Given the description of an element on the screen output the (x, y) to click on. 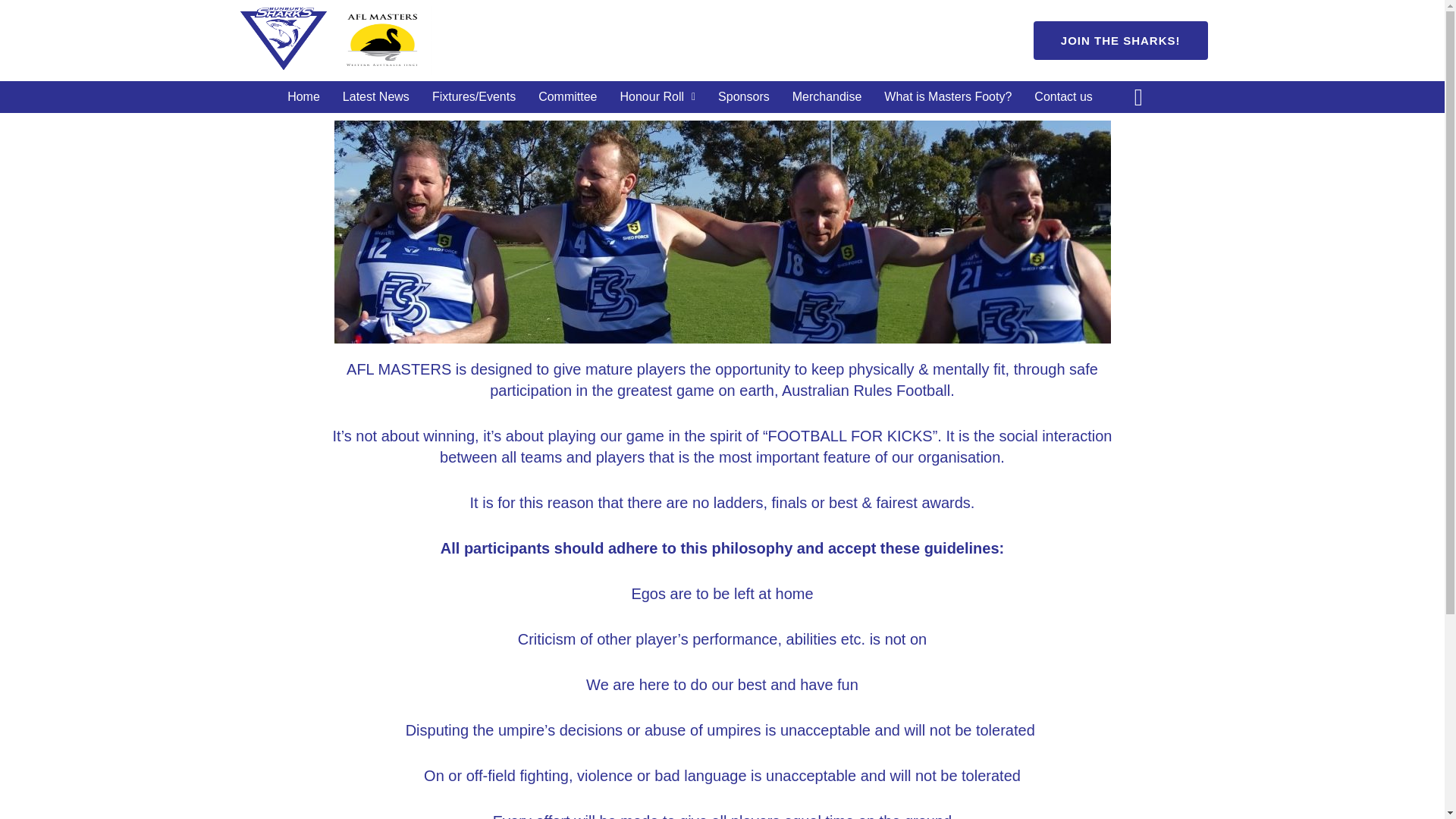
Home (303, 96)
Latest News (375, 96)
Committee (567, 96)
Contact us (1063, 96)
What is Masters Footy? (947, 96)
Honour Roll (657, 96)
JOIN THE SHARKS! (1120, 40)
Sponsors (743, 96)
Merchandise (826, 96)
